Given the description of an element on the screen output the (x, y) to click on. 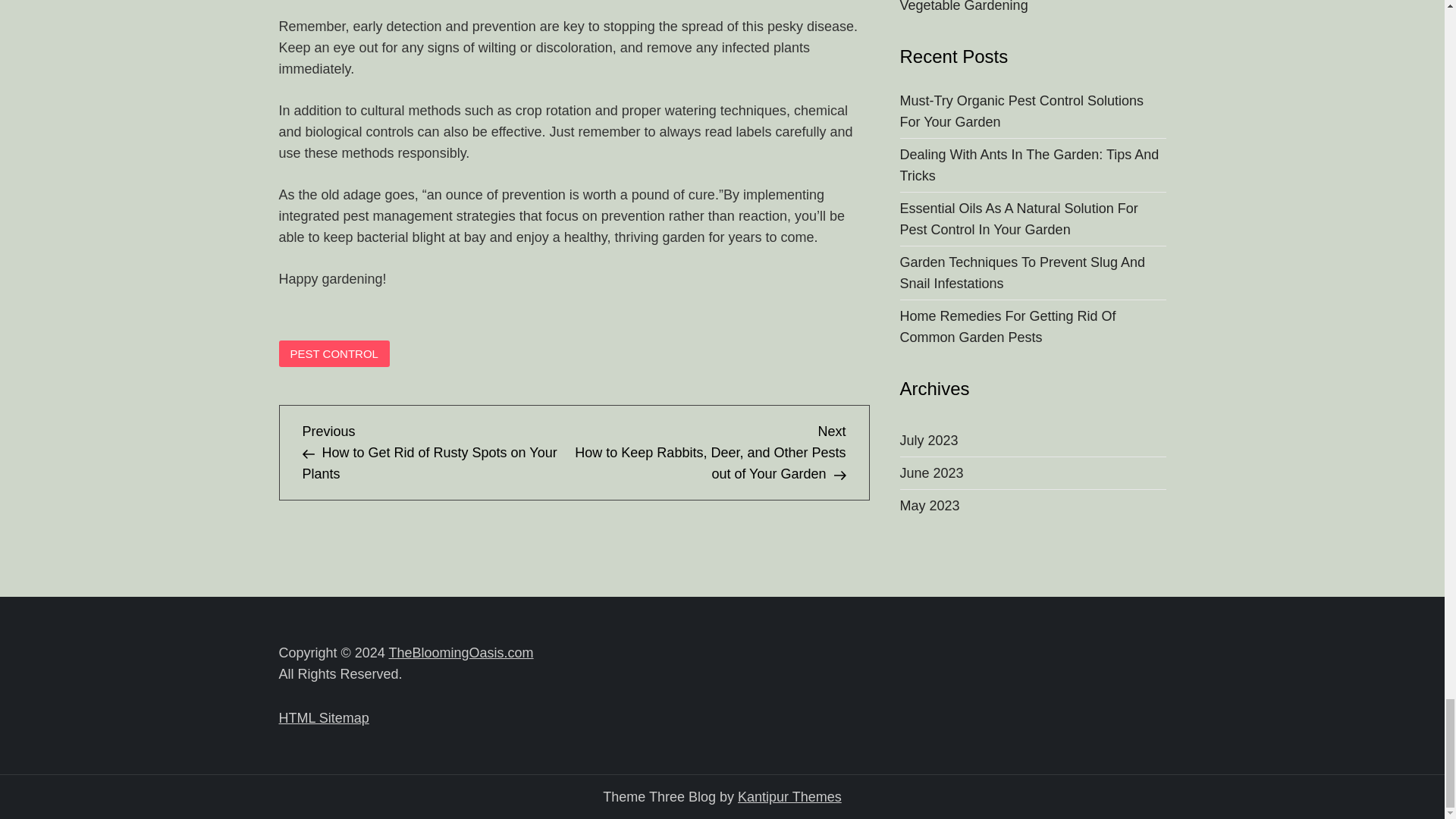
Kantipur Themes (789, 796)
HTML Sitemap (324, 717)
TheBloomingOasis.com (461, 652)
PEST CONTROL (334, 353)
